Given the description of an element on the screen output the (x, y) to click on. 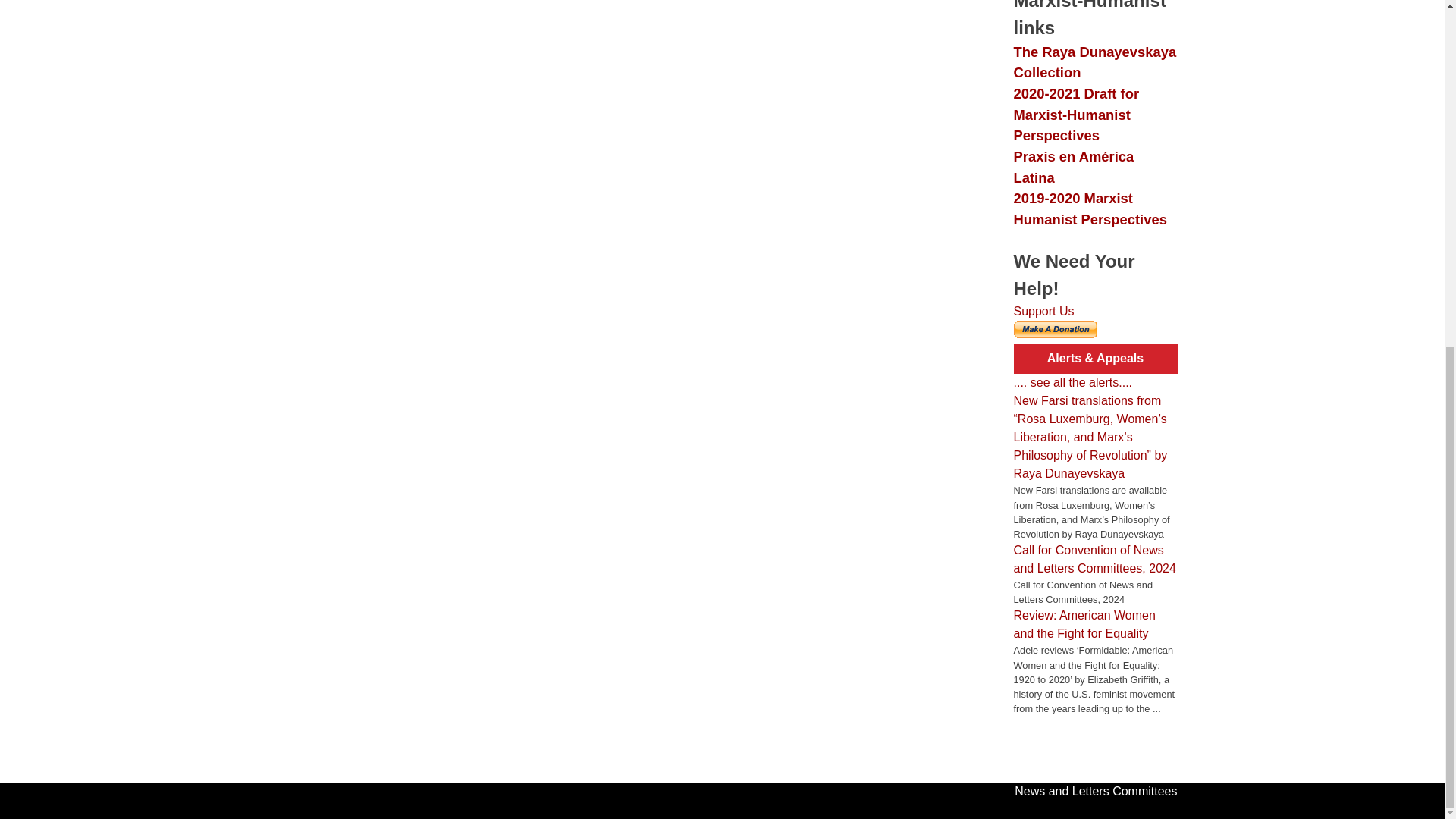
The Raya Dunayevskaya Collection (1094, 62)
Support Us (1043, 310)
.... see all the alerts.... (1072, 382)
2020-2021 Draft for Marxist-Humanist Perspectives (1075, 114)
2019-2020 Marxist Humanist Perspectives (1089, 208)
